Given the description of an element on the screen output the (x, y) to click on. 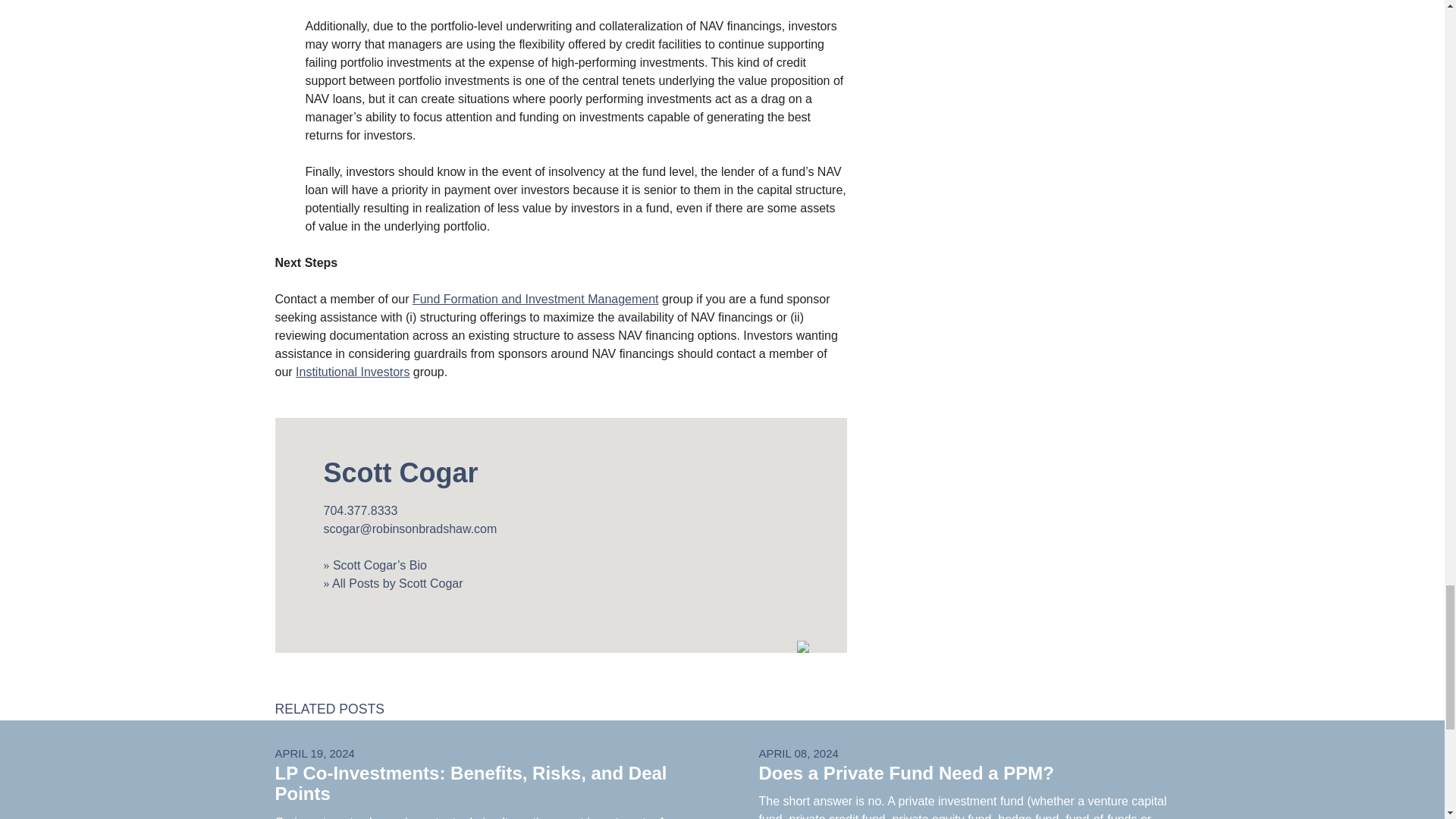
Institutional Investors (352, 371)
All Posts by Scott Cogar (393, 583)
Does a Private Fund Need a PPM? (905, 772)
LP Co-Investments: Benefits, Risks, and Deal Points (470, 782)
Fund Formation and Investment Management (535, 298)
